Given the description of an element on the screen output the (x, y) to click on. 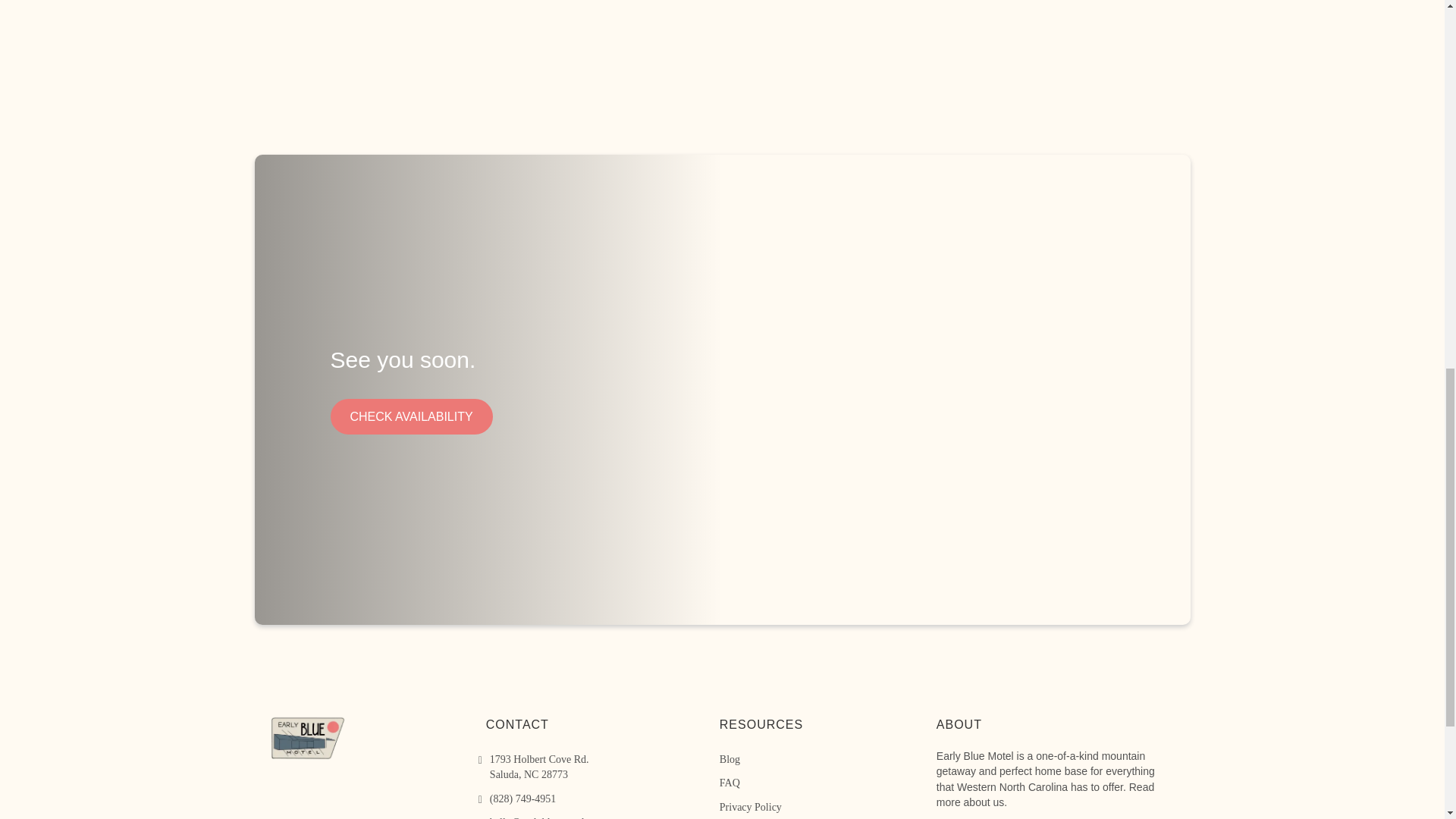
low-quality-logo (307, 737)
